Given the description of an element on the screen output the (x, y) to click on. 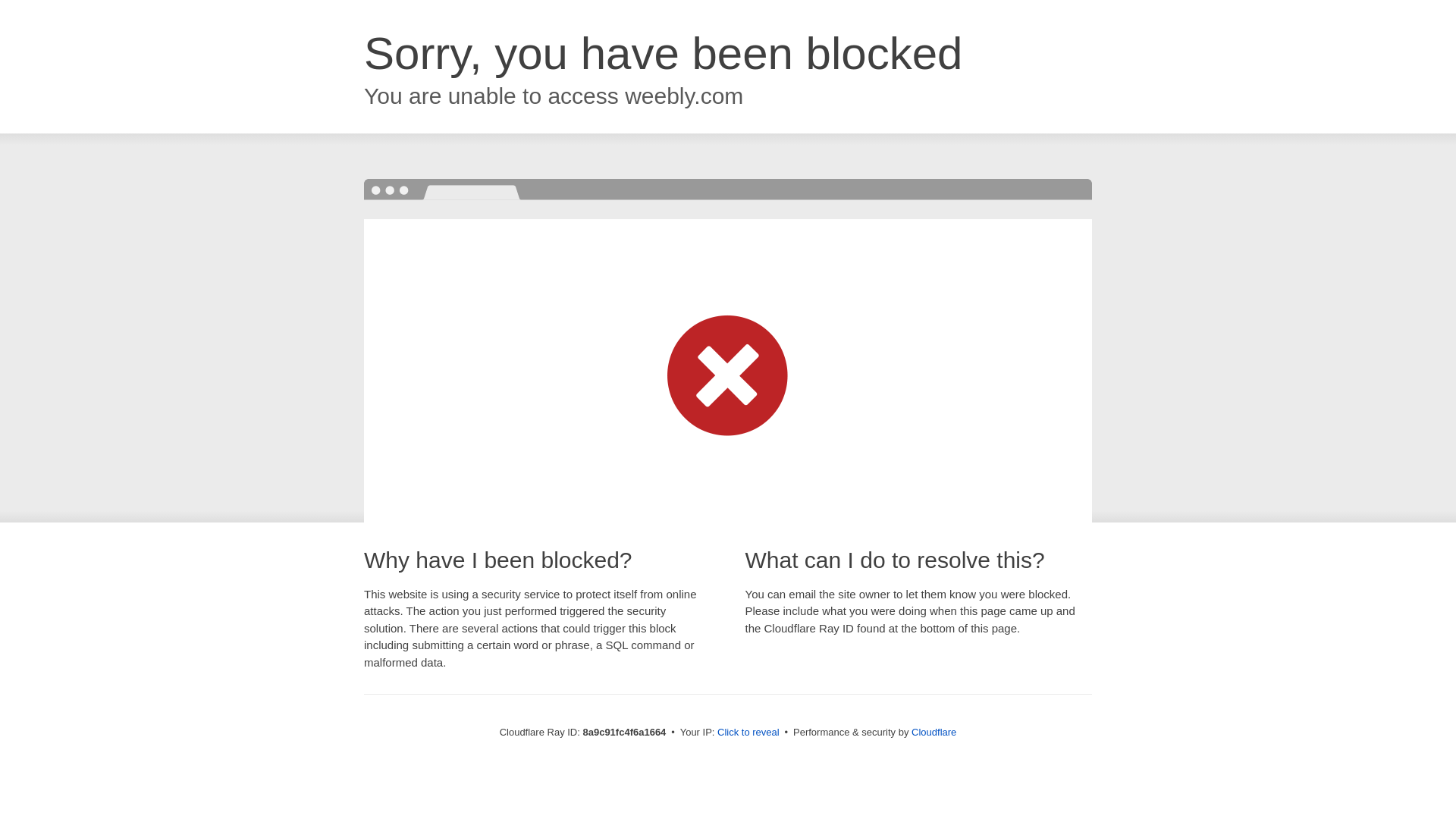
Cloudflare (933, 731)
Click to reveal (747, 732)
